Given the description of an element on the screen output the (x, y) to click on. 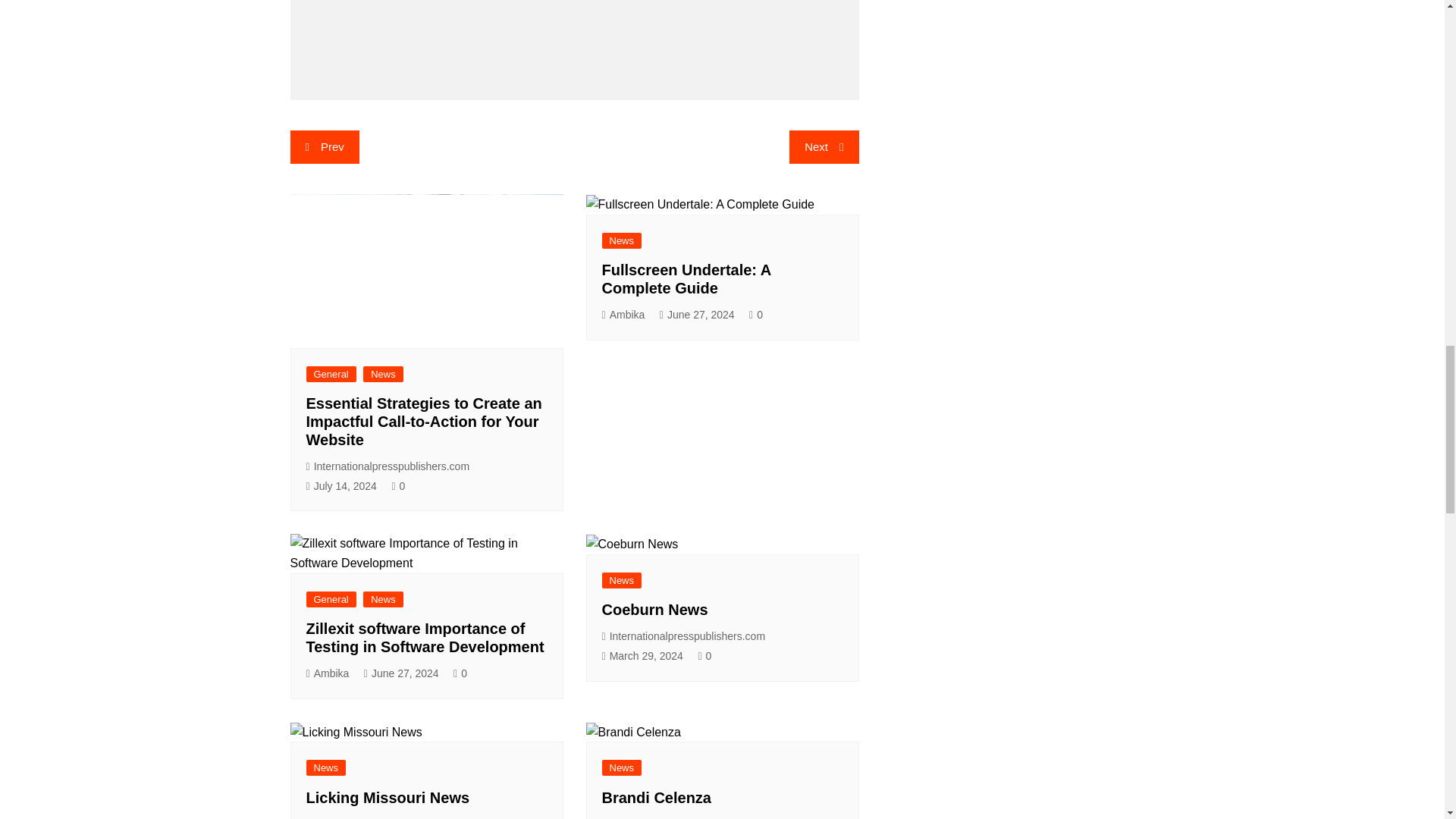
June 27, 2024 (697, 314)
News (382, 599)
July 14, 2024 (341, 486)
Next (824, 146)
June 27, 2024 (401, 673)
News (382, 374)
Internationalpresspublishers.com (387, 466)
General (330, 599)
General (330, 374)
News (622, 240)
